Given the description of an element on the screen output the (x, y) to click on. 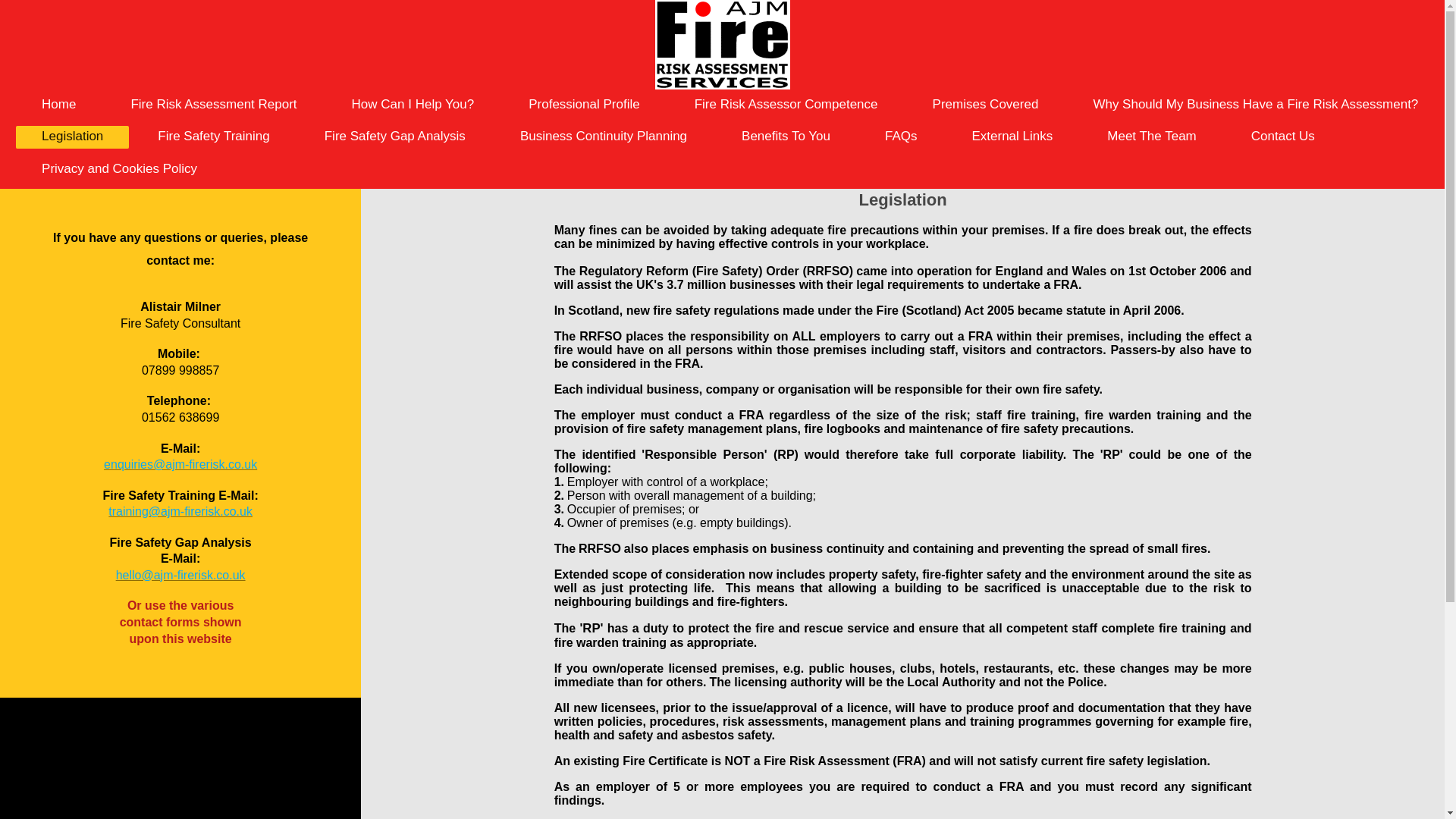
Premises Covered (985, 105)
Fire Safety Gap Analysis (395, 137)
Fire Risk Assessment Report (212, 105)
Why Should My Business Have a Fire Risk Assessment? (1255, 105)
Click here to contact me (180, 463)
Fire Risk Assessor Competence (786, 105)
FAQs (901, 137)
Privacy and Cookies Policy (119, 169)
Business Continuity Planning (604, 137)
How Can I Help You? (413, 105)
